Given the description of an element on the screen output the (x, y) to click on. 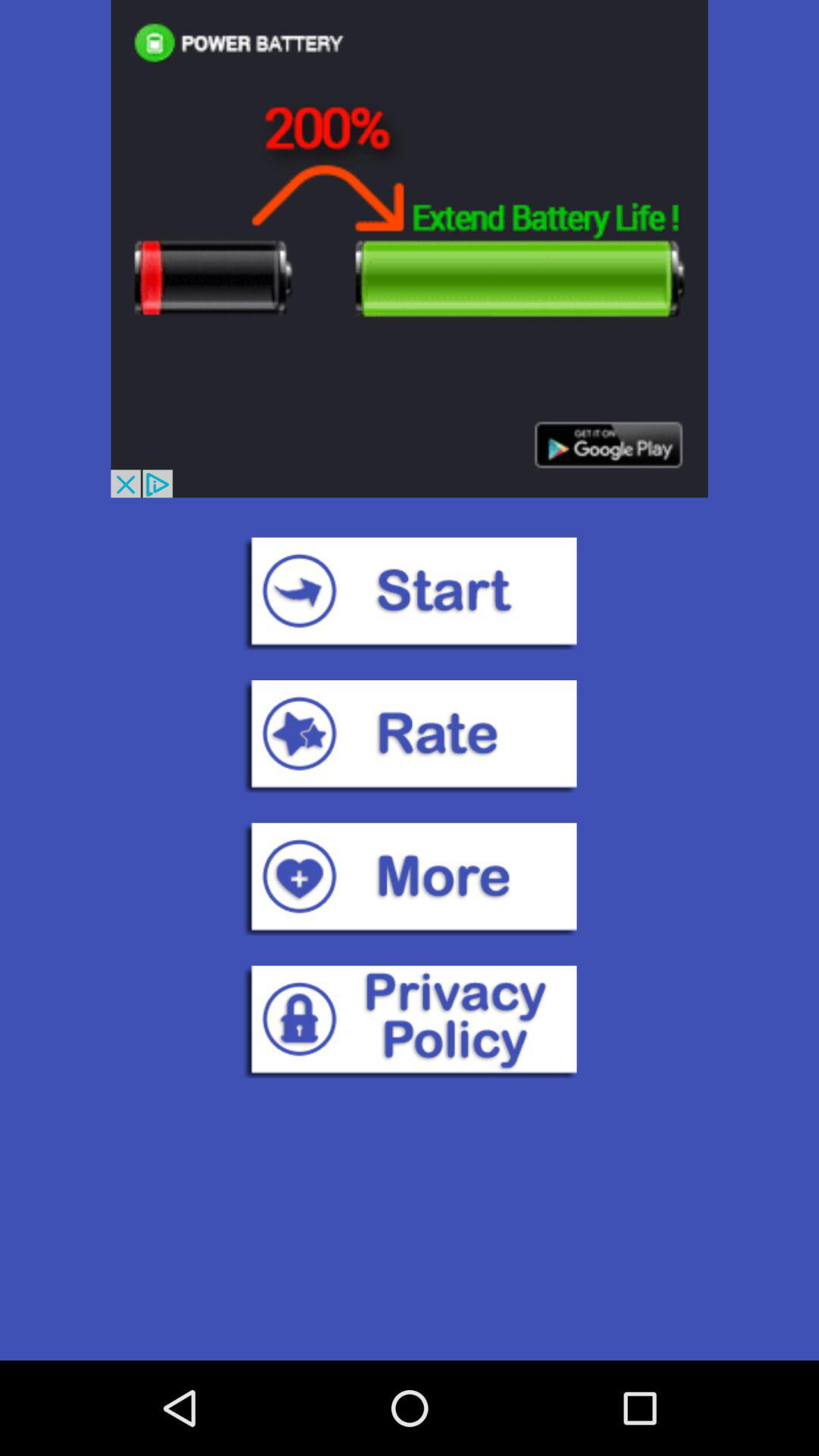
start (409, 593)
